Given the description of an element on the screen output the (x, y) to click on. 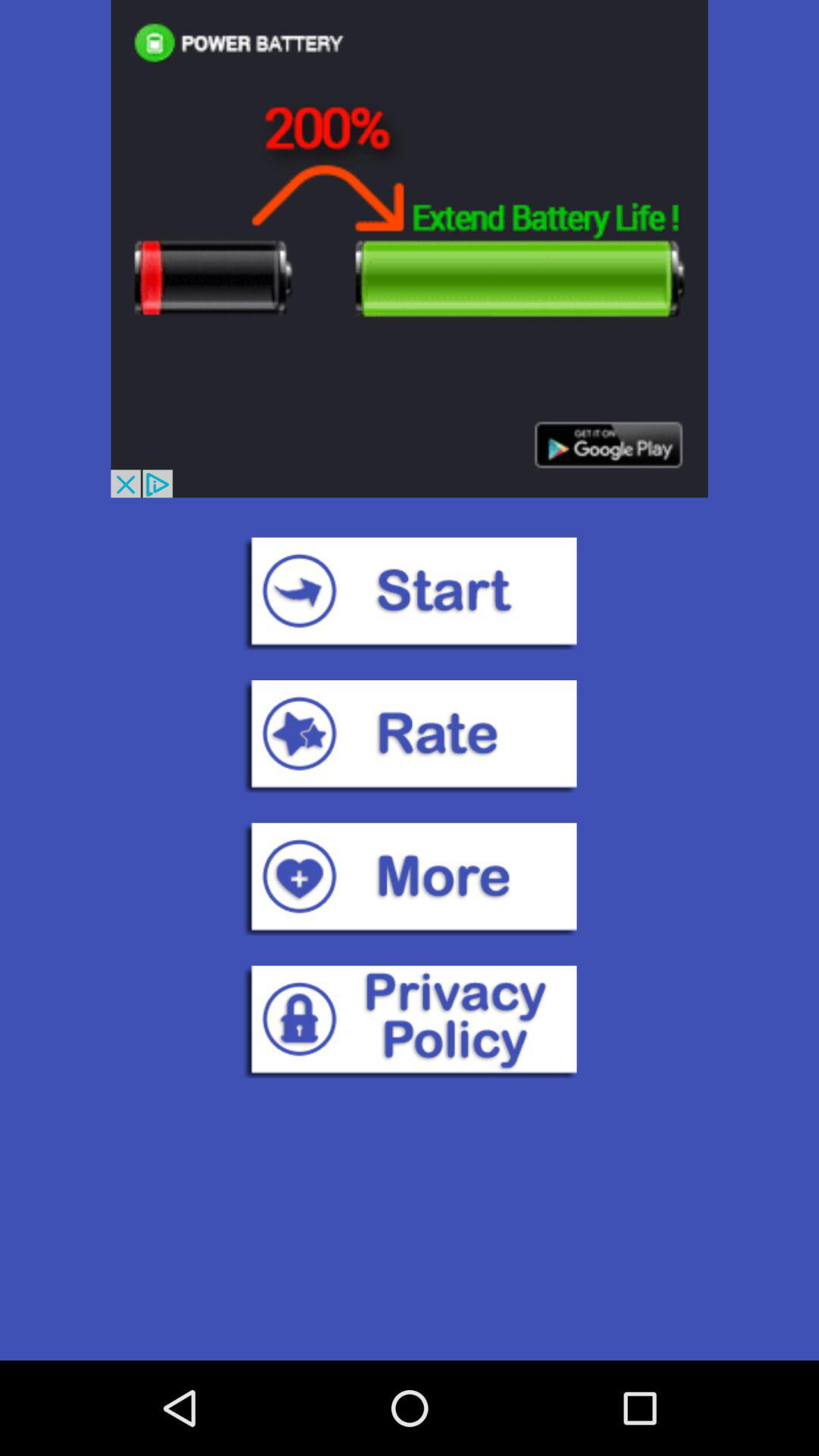
start (409, 593)
